Given the description of an element on the screen output the (x, y) to click on. 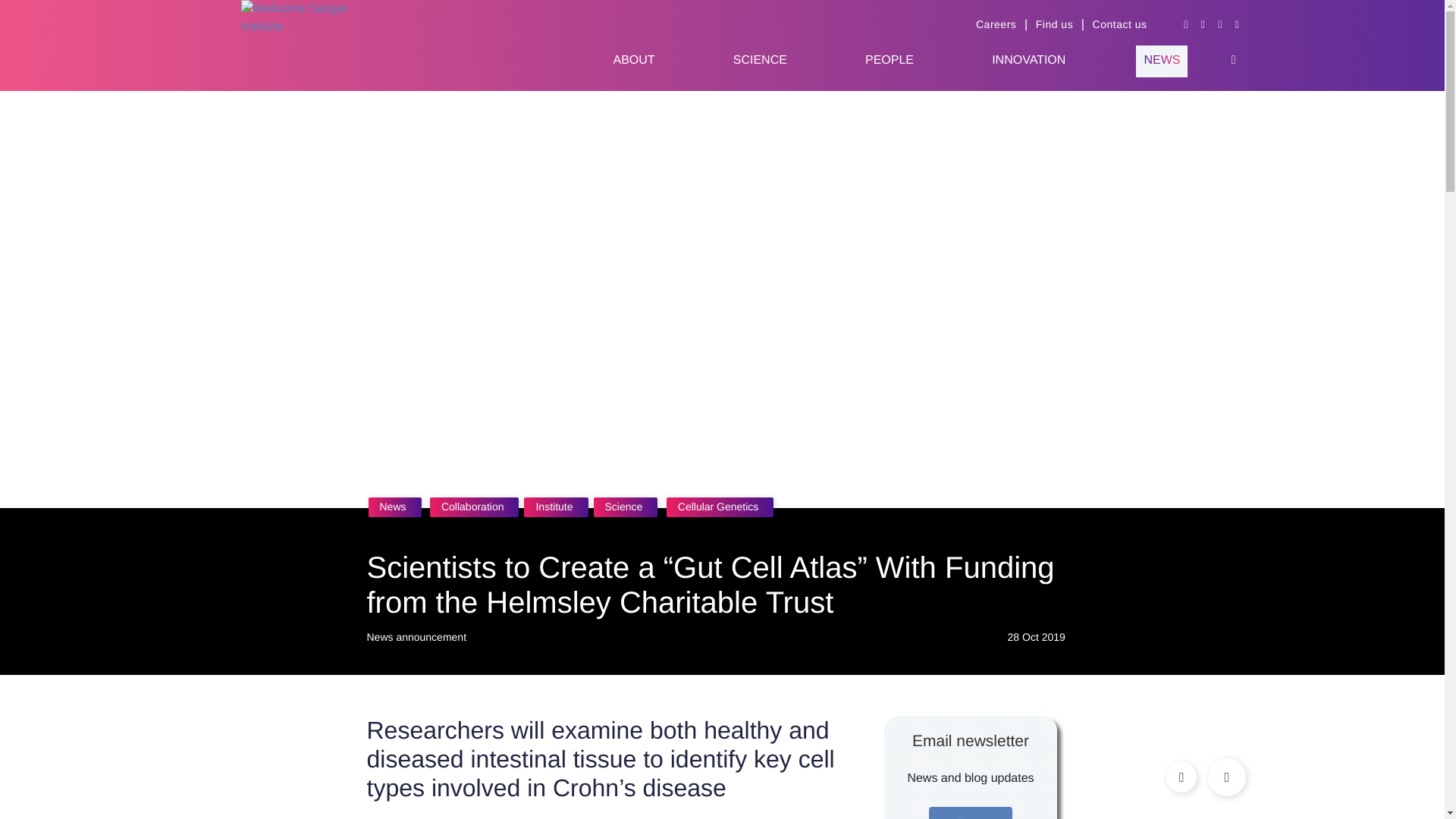
about (632, 60)
ABOUT (632, 60)
Wellcome Sanger Institute (313, 45)
Contact us (1119, 24)
news (1160, 60)
PEOPLE (889, 60)
Search (1233, 60)
Careers (995, 24)
innovation (1028, 60)
science (760, 60)
Find us (1053, 24)
SCIENCE (760, 60)
